Given the description of an element on the screen output the (x, y) to click on. 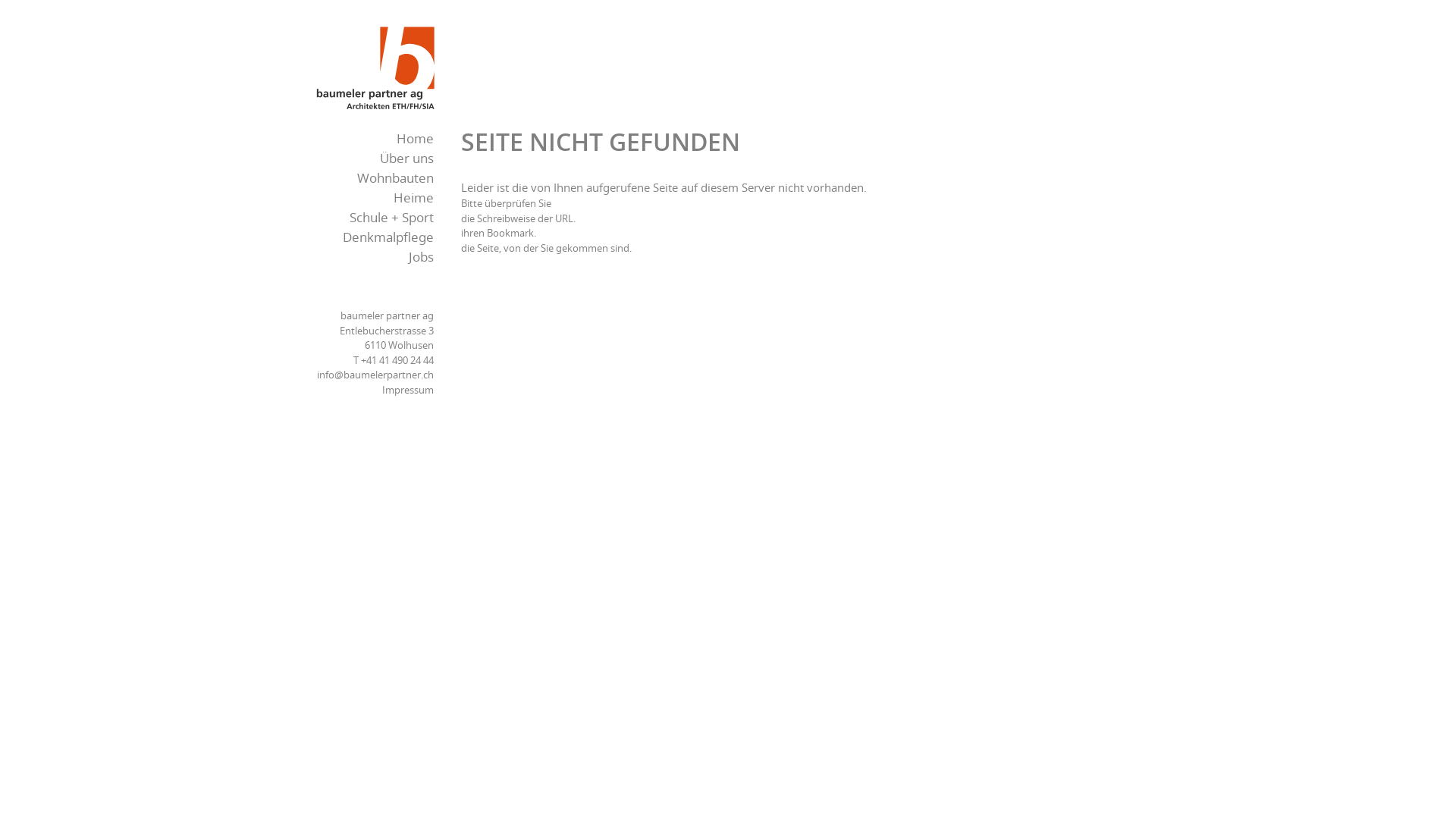
+41 41 490 24 44 Element type: text (396, 361)
Impressum Element type: text (407, 390)
Home Element type: hover (387, 70)
Denkmalpflege Element type: text (370, 238)
Home Element type: text (370, 139)
Schule + Sport Element type: text (370, 218)
Jobs Element type: text (370, 257)
Heime Element type: text (370, 198)
info@baumelerpartner.ch Element type: text (374, 375)
Wohnbauten Element type: text (370, 178)
